Given the description of an element on the screen output the (x, y) to click on. 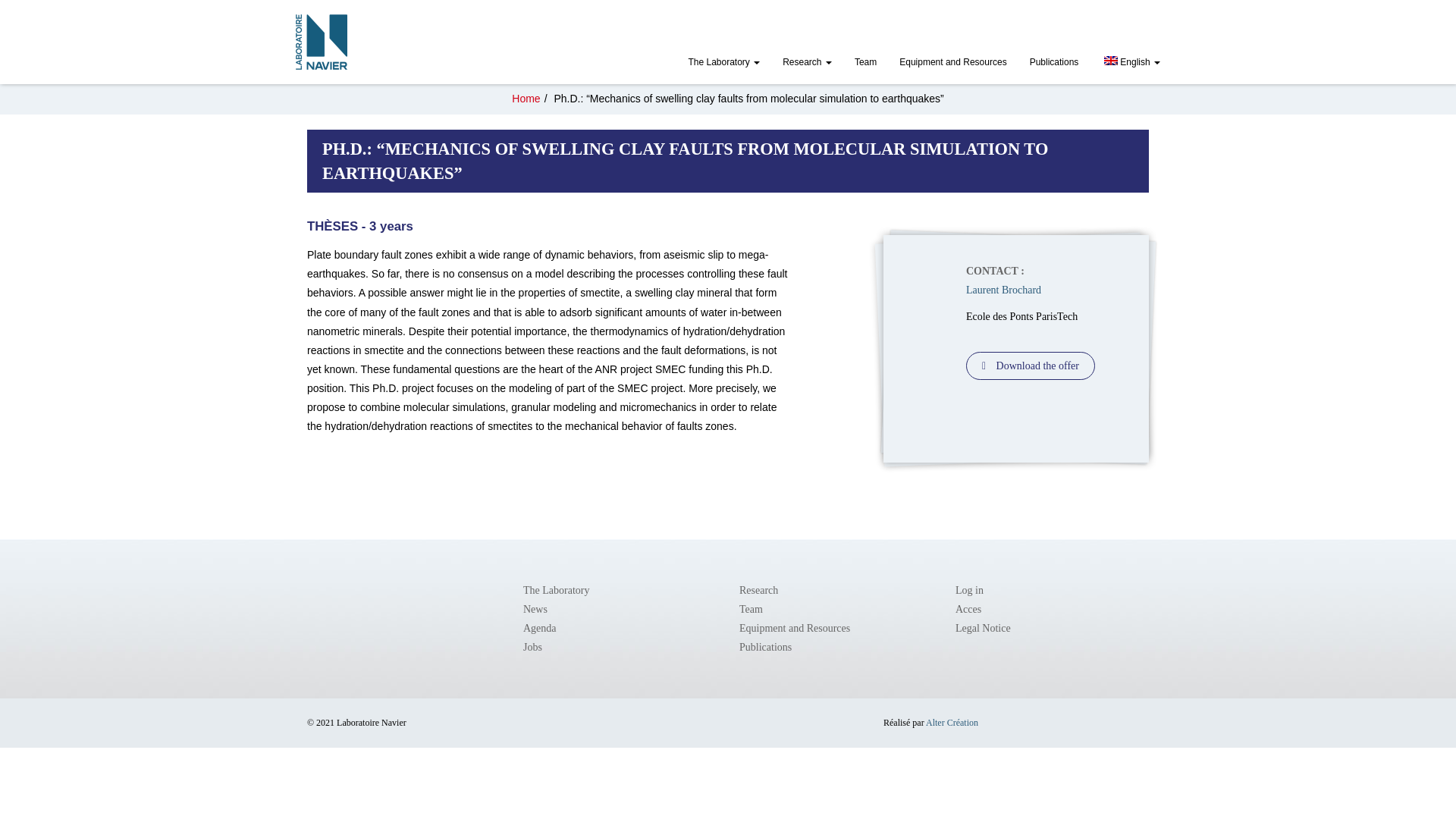
Research (807, 63)
Home (526, 98)
Equipment and Resources (952, 63)
Publications (1053, 63)
Download the offer (1030, 366)
The Laboratory (555, 590)
Equipment and Resources (952, 63)
Team (865, 63)
The Laboratory (724, 63)
Laurent Brochard (1003, 289)
News (534, 609)
The Laboratory (724, 63)
English (1130, 63)
 English (1130, 63)
Publications (1053, 63)
